Given the description of an element on the screen output the (x, y) to click on. 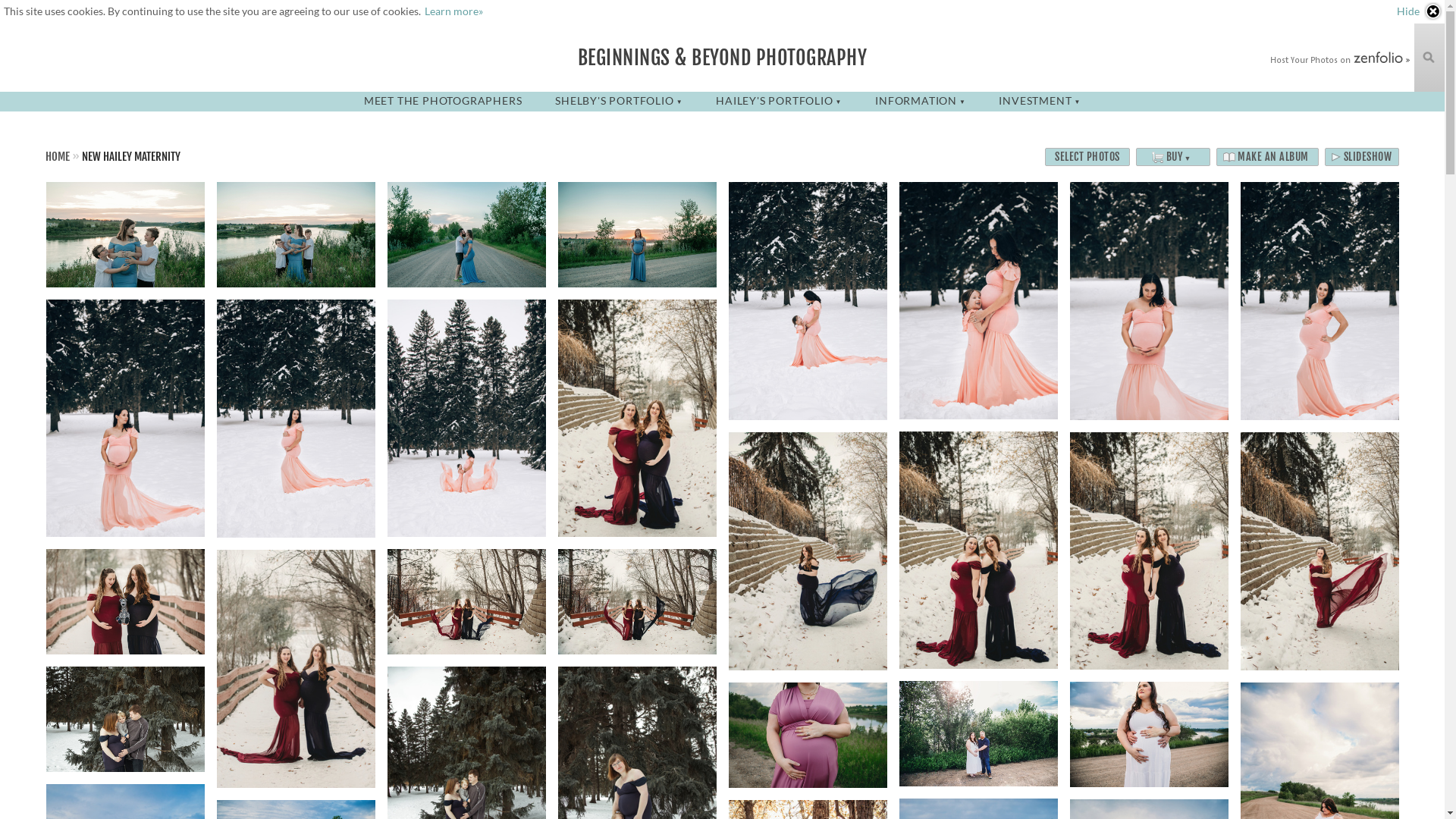
BEGINNINGS & BEYOND PHOTOGRAPHY Element type: text (722, 57)
HOME Element type: text (57, 156)
MEET THE PHOTOGRAPHERS Element type: text (442, 100)
Host Your Photos on Zenfolio Element type: hover (1338, 59)
Hide Element type: text (1419, 11)
